Given the description of an element on the screen output the (x, y) to click on. 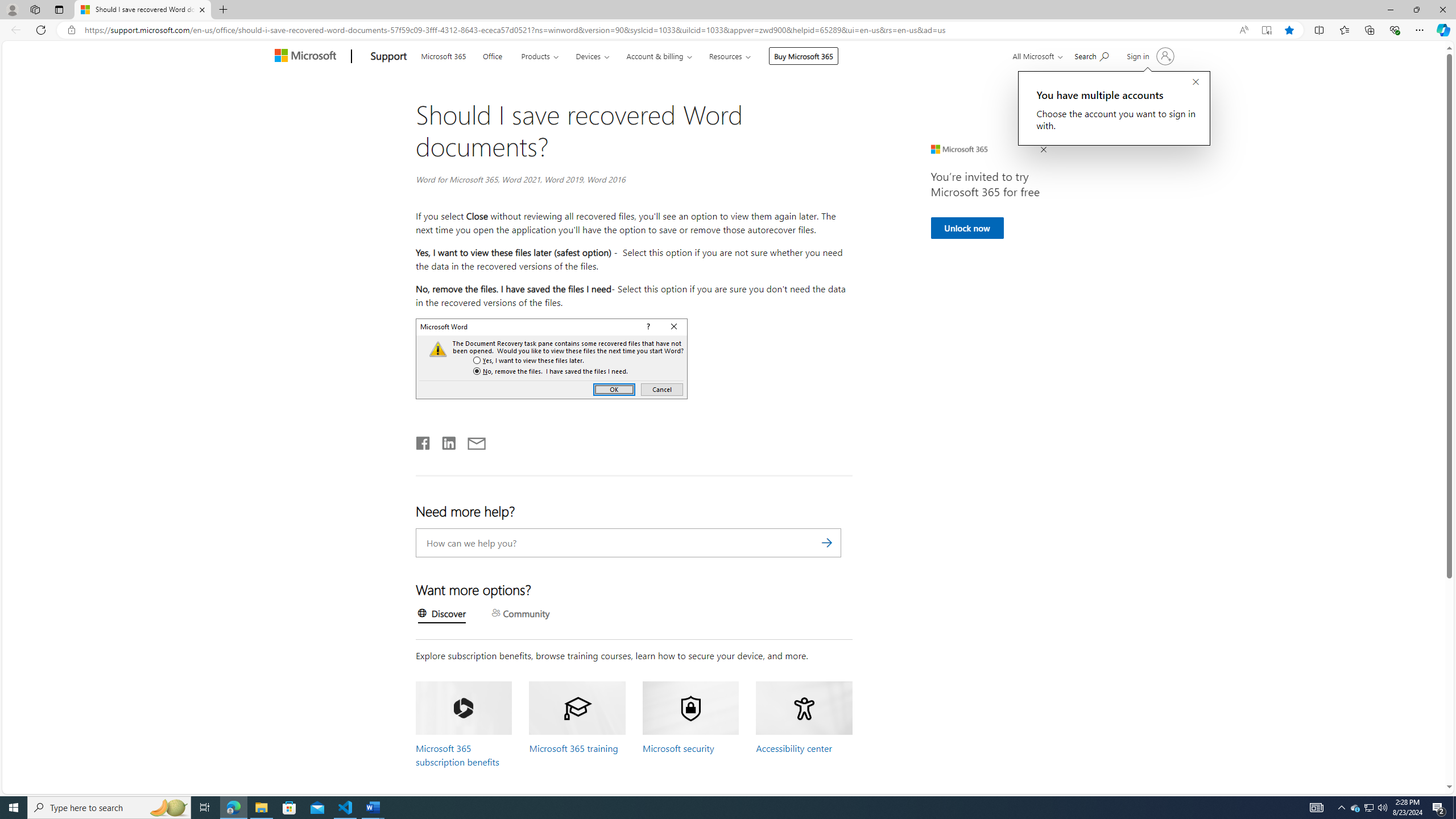
Sign in to your account (1149, 55)
Microsoft 365 (443, 54)
Add this page to favorites (Ctrl+D) (1289, 29)
Share on LinkedIn (443, 441)
Tab actions menu (58, 9)
Split screen (1318, 29)
Personal Profile (12, 9)
Community (521, 614)
Search for help (1090, 54)
Read aloud this page (Ctrl+Shift+U) (1243, 29)
Accessibility center (793, 748)
App bar (728, 29)
